Given the description of an element on the screen output the (x, y) to click on. 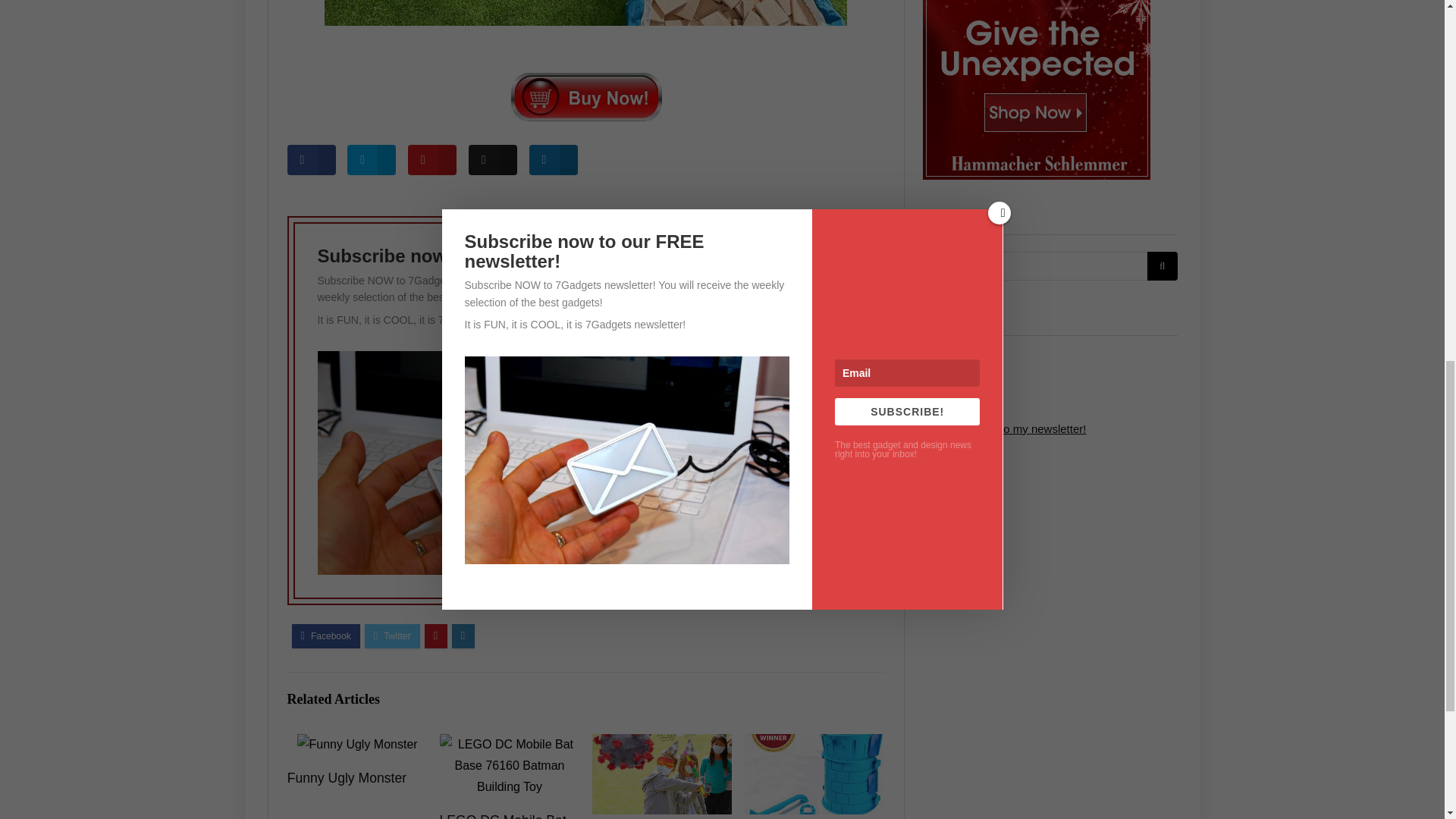
SUBSCRIBE! (790, 410)
Buy now! (585, 95)
Funny Ugly Monster (346, 777)
LEGO DC Mobile Bat Base 76160 Batman Building Toy (502, 816)
